Given the description of an element on the screen output the (x, y) to click on. 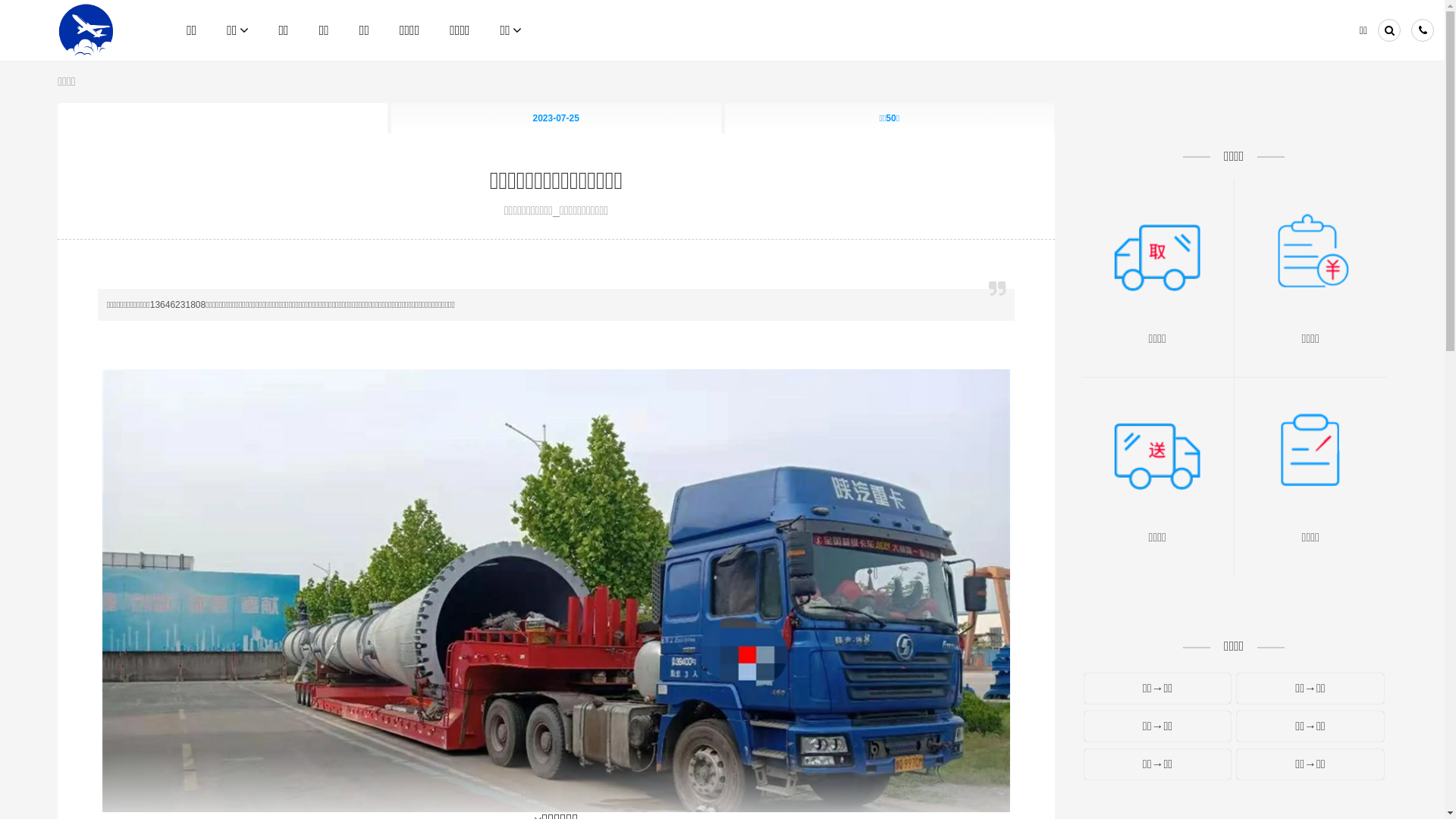
2023-07-25 Element type: text (556, 118)
